Given the description of an element on the screen output the (x, y) to click on. 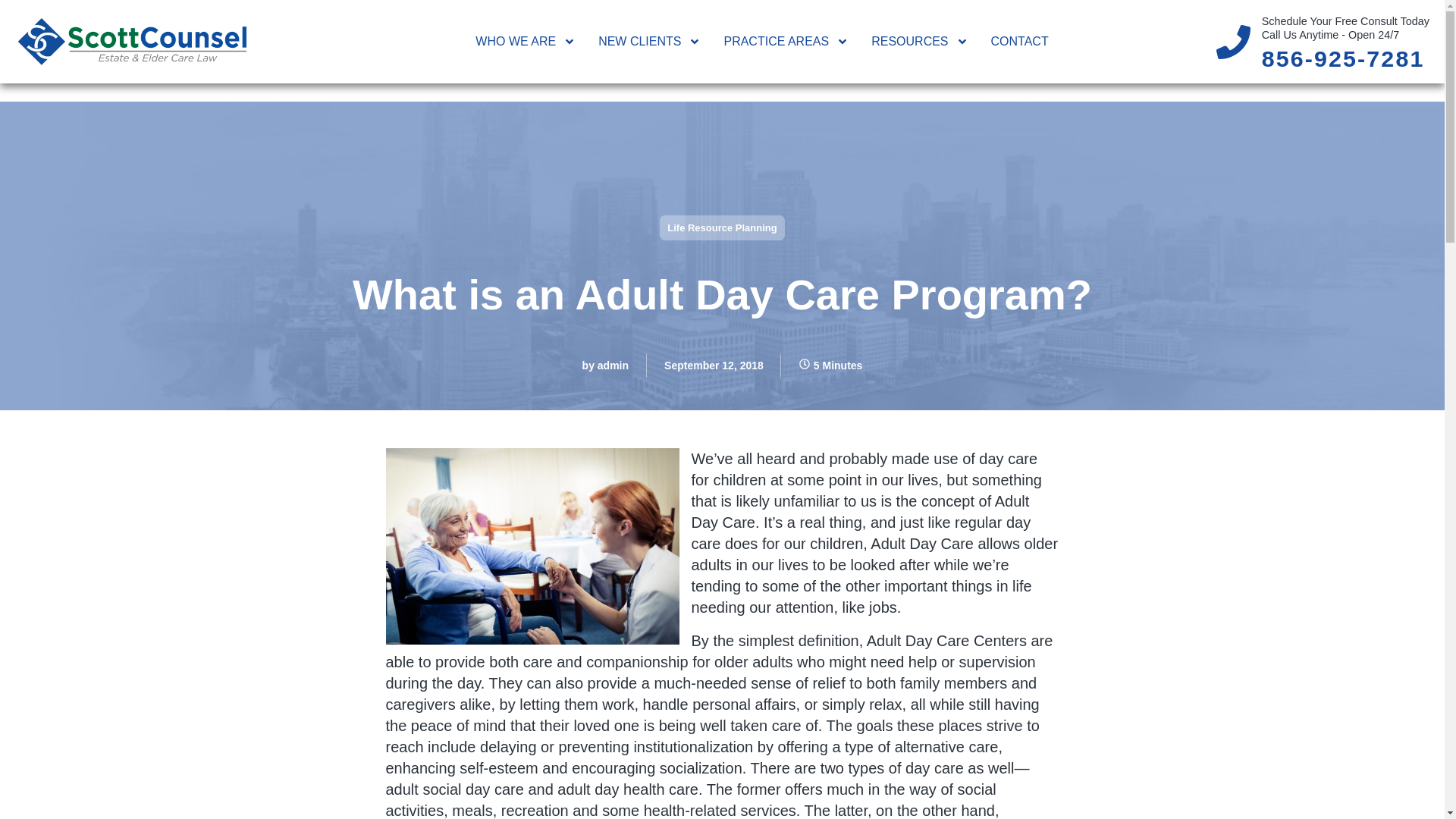
WHO WE ARE (525, 41)
CONTACT (1020, 41)
PRACTICE AREAS (786, 41)
NEW CLIENTS (649, 41)
RESOURCES (919, 41)
